Given the description of an element on the screen output the (x, y) to click on. 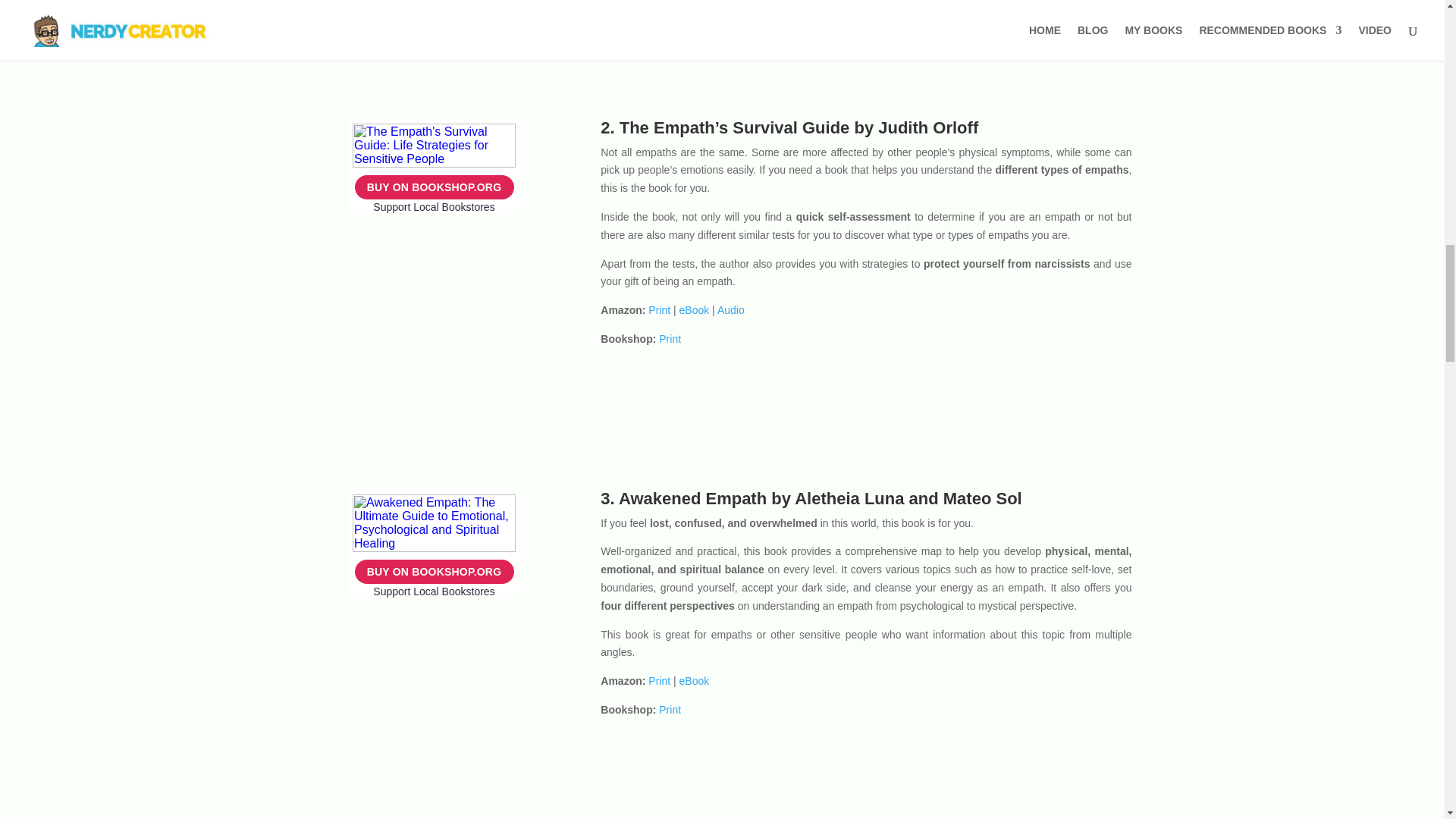
Print (670, 709)
Audio (730, 309)
eBook (694, 309)
Print (658, 309)
eBook (694, 680)
Print (670, 338)
Print (658, 680)
